Given the description of an element on the screen output the (x, y) to click on. 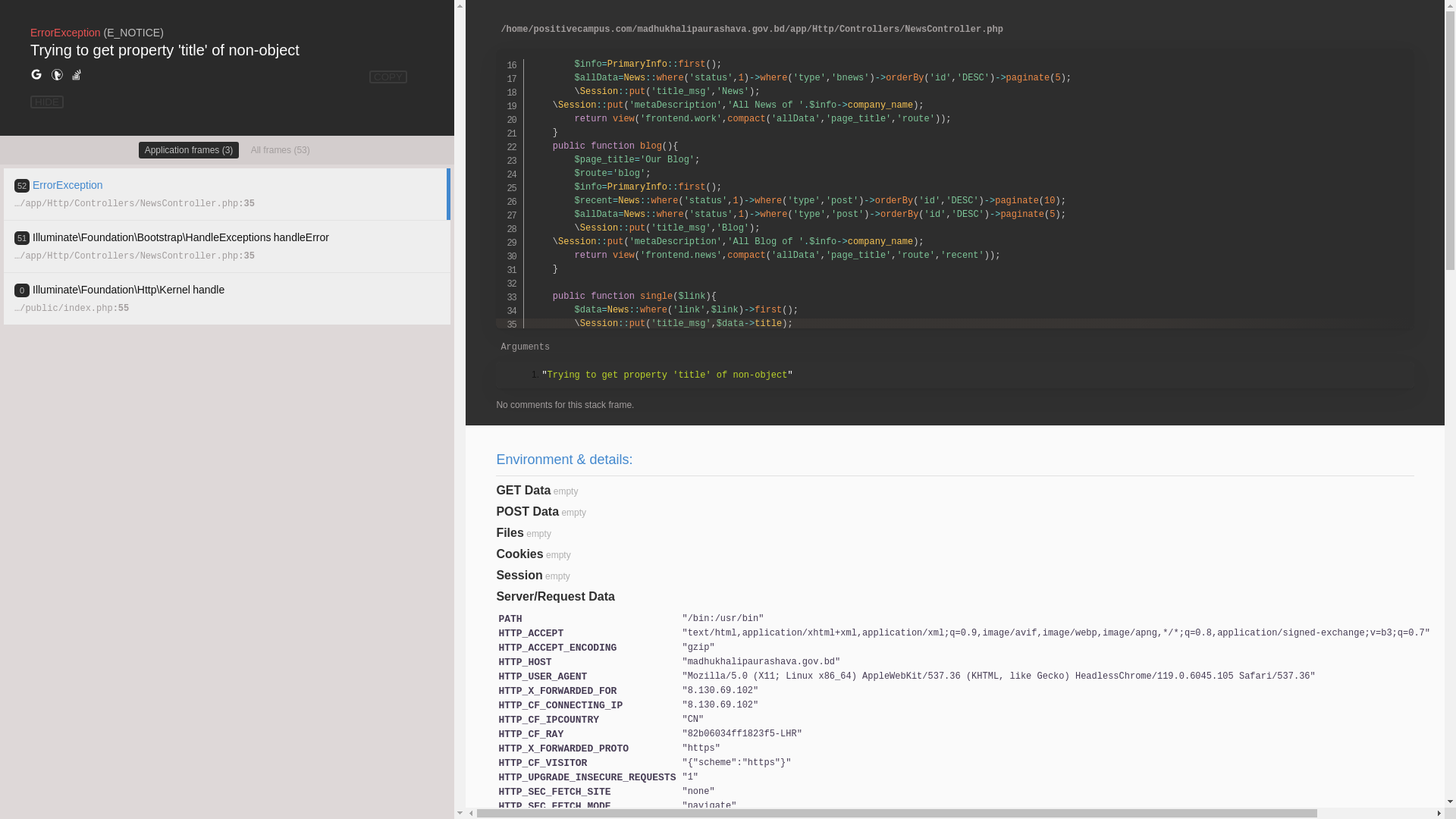
COPY Element type: text (388, 76)
HIDE Element type: text (46, 101)
All frames (53) Element type: text (280, 149)
Search for help on DuckDuckGo. Element type: hover (56, 74)
Search for help on Stack Overflow. Element type: hover (76, 74)
Search for help on Google. Element type: hover (36, 74)
Application frames (3) Element type: text (188, 149)
